Given the description of an element on the screen output the (x, y) to click on. 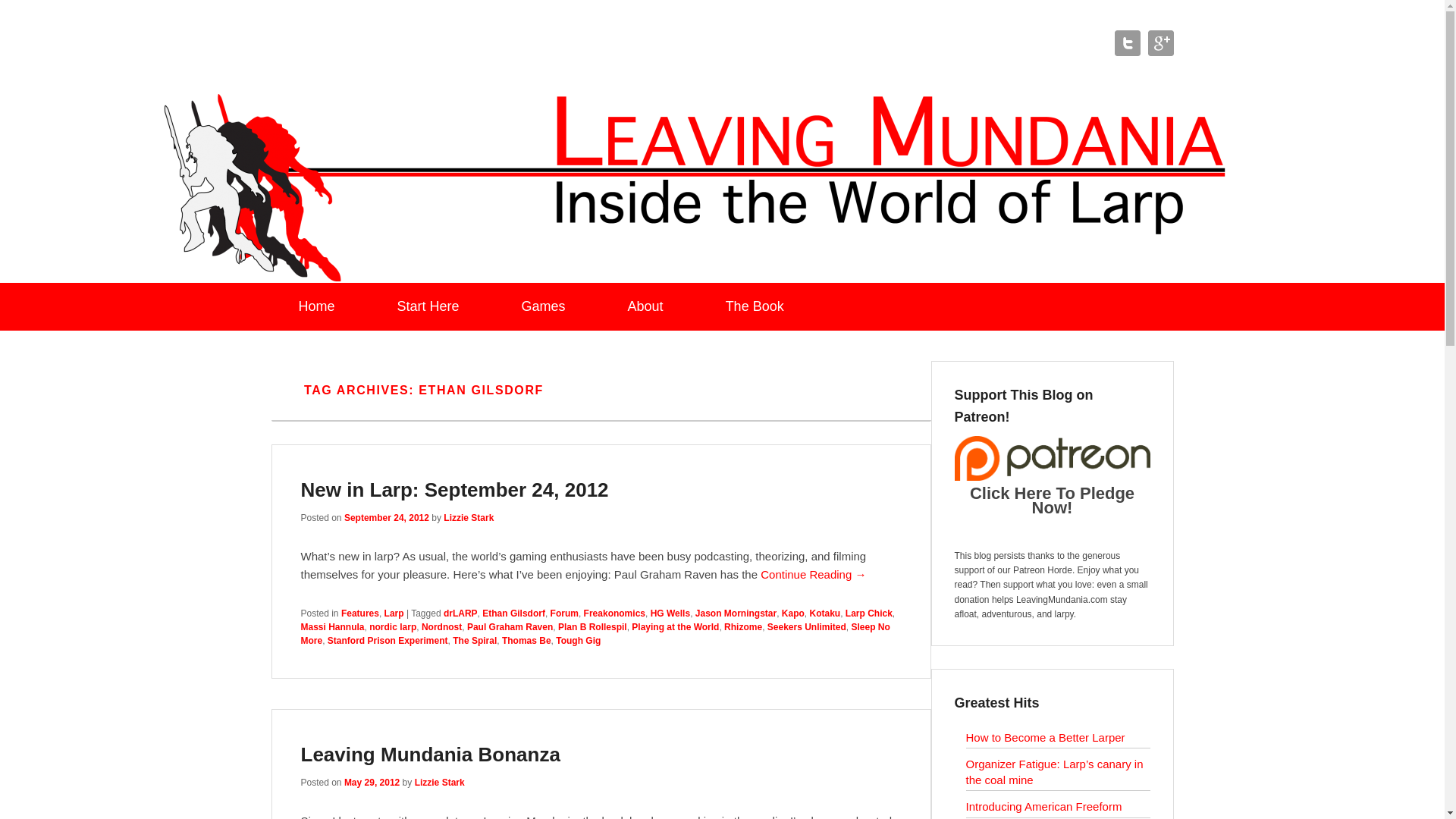
Games (543, 306)
Home (316, 306)
Rhizome (742, 626)
Plan B Rollespil (592, 626)
Forum (564, 613)
Start Here (427, 306)
View all posts by Lizzie Stark (468, 517)
Playing at the World (675, 626)
Thomas Be (526, 640)
Permalink to Leaving Mundania Bonanza (429, 753)
Skip to primary content (58, 291)
About (644, 306)
Leaving Mundania Twitter (1127, 43)
Larp Chick (868, 613)
drLARP (460, 613)
